Given the description of an element on the screen output the (x, y) to click on. 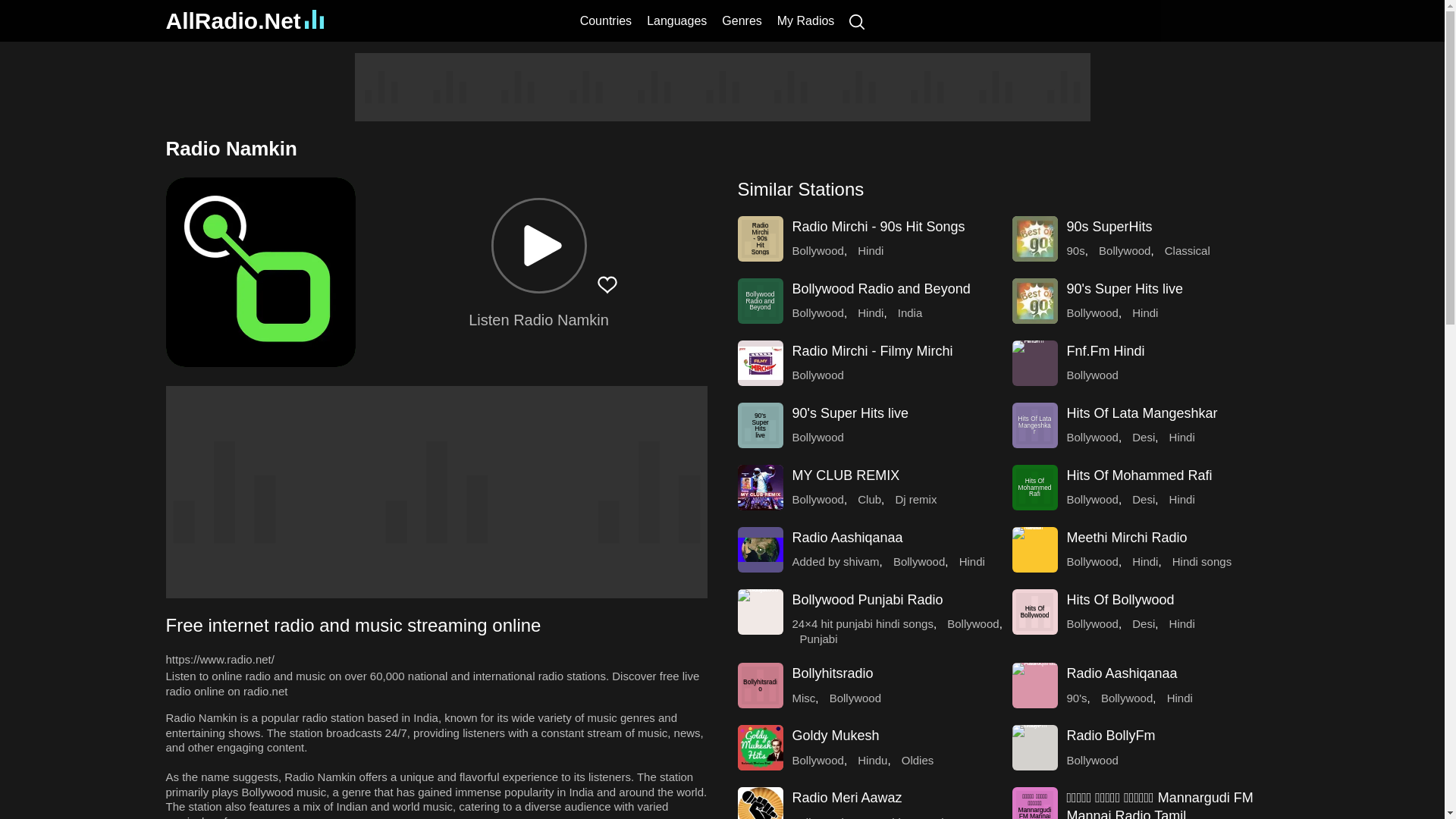
Bollywood (1091, 374)
Bollywood Radio and Beyond (759, 300)
Bollywood (1124, 250)
Bollywood (817, 250)
90s SuperHits (1108, 226)
90s (1074, 250)
India (910, 312)
Bollywood (817, 374)
Radio Mirchi - 90s Hit Songs (759, 238)
Hits Of Lata Mangeshkar (1141, 412)
90s SuperHits (1108, 226)
Bollywood (1091, 312)
Bollywood Radio and Beyond (759, 300)
Hindi (870, 312)
India (910, 312)
